Given the description of an element on the screen output the (x, y) to click on. 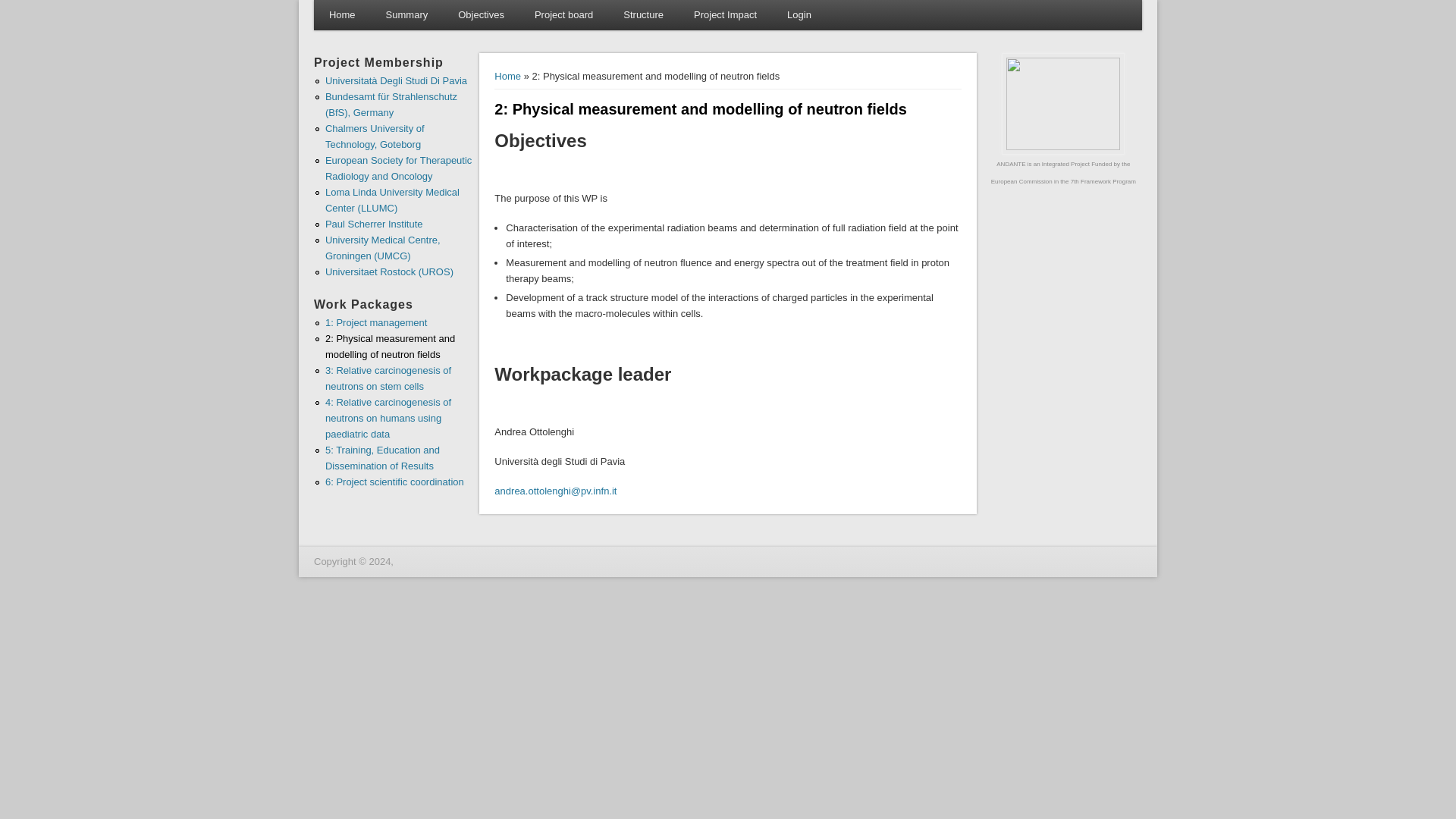
European Society for Therapeutic Radiology and Oncology (397, 167)
Home (508, 75)
Objectives (480, 15)
3: Relative carcinogenesis of neutrons on stem cells (387, 378)
1: Project management (375, 322)
2: Physical measurement and modelling of neutron fields (389, 346)
Structure (643, 15)
Summary (407, 15)
Home (342, 15)
Project board (563, 15)
